Given the description of an element on the screen output the (x, y) to click on. 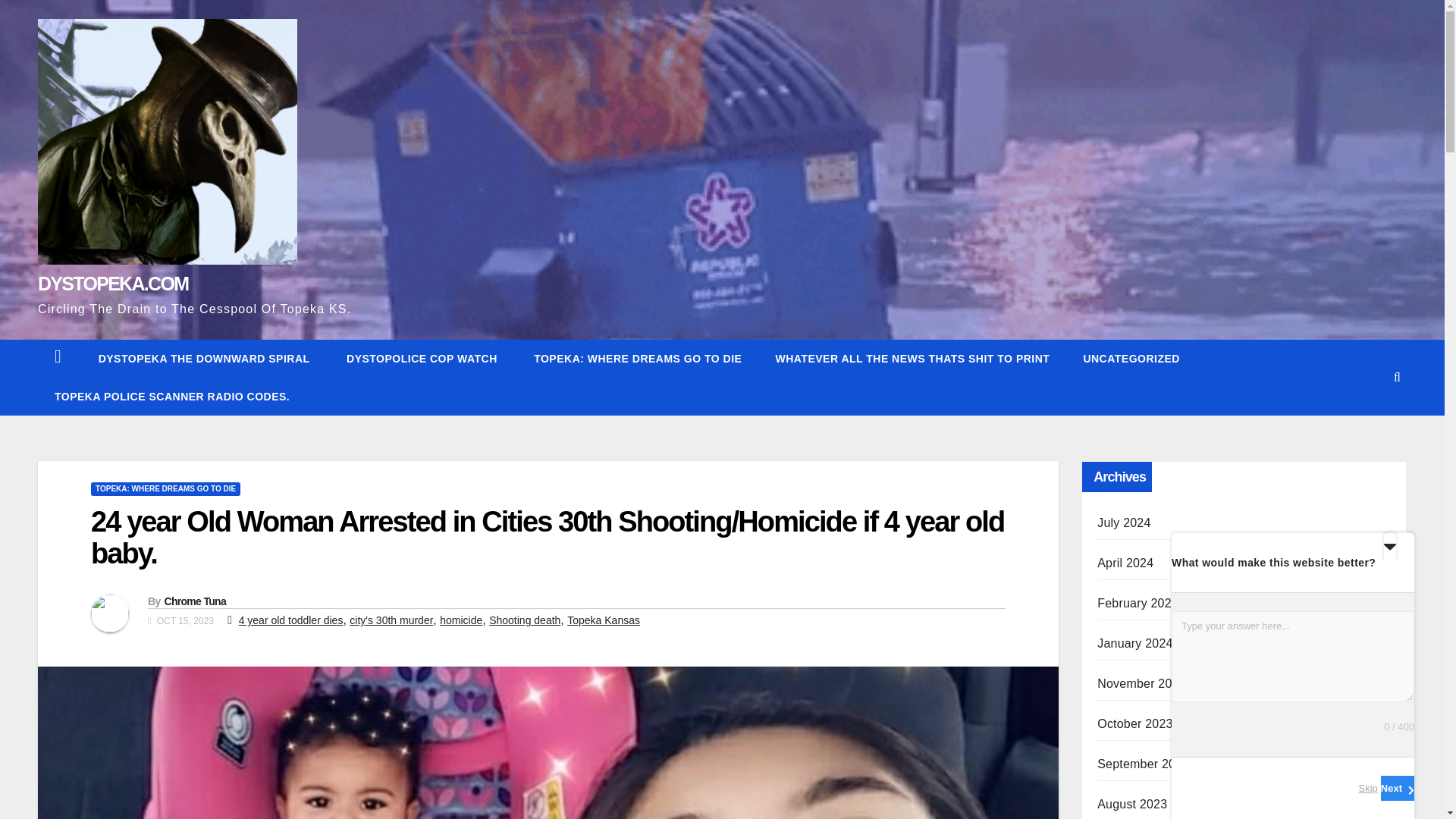
Uncategorized (1130, 358)
Topeka Police Scanner Radio Codes. (171, 396)
4 year old toddler dies (290, 620)
city's 30th murder (390, 620)
UNCATEGORIZED (1130, 358)
Give Up (635, 358)
This Town Needs An Enema. (202, 358)
 TOPEKA: WHERE DREAMS GO TO DIE (635, 358)
Shooting death (524, 620)
 DYSTOPOLICE COP WATCH (419, 358)
WHATEVER ALL THE NEWS THATS SHIT TO PRINT (911, 358)
Whatever All The News Thats Shit To Print (911, 358)
TOPEKA POLICE SCANNER RADIO CODES. (171, 396)
homicide (460, 620)
TOPEKA: WHERE DREAMS GO TO DIE (165, 489)
